Given the description of an element on the screen output the (x, y) to click on. 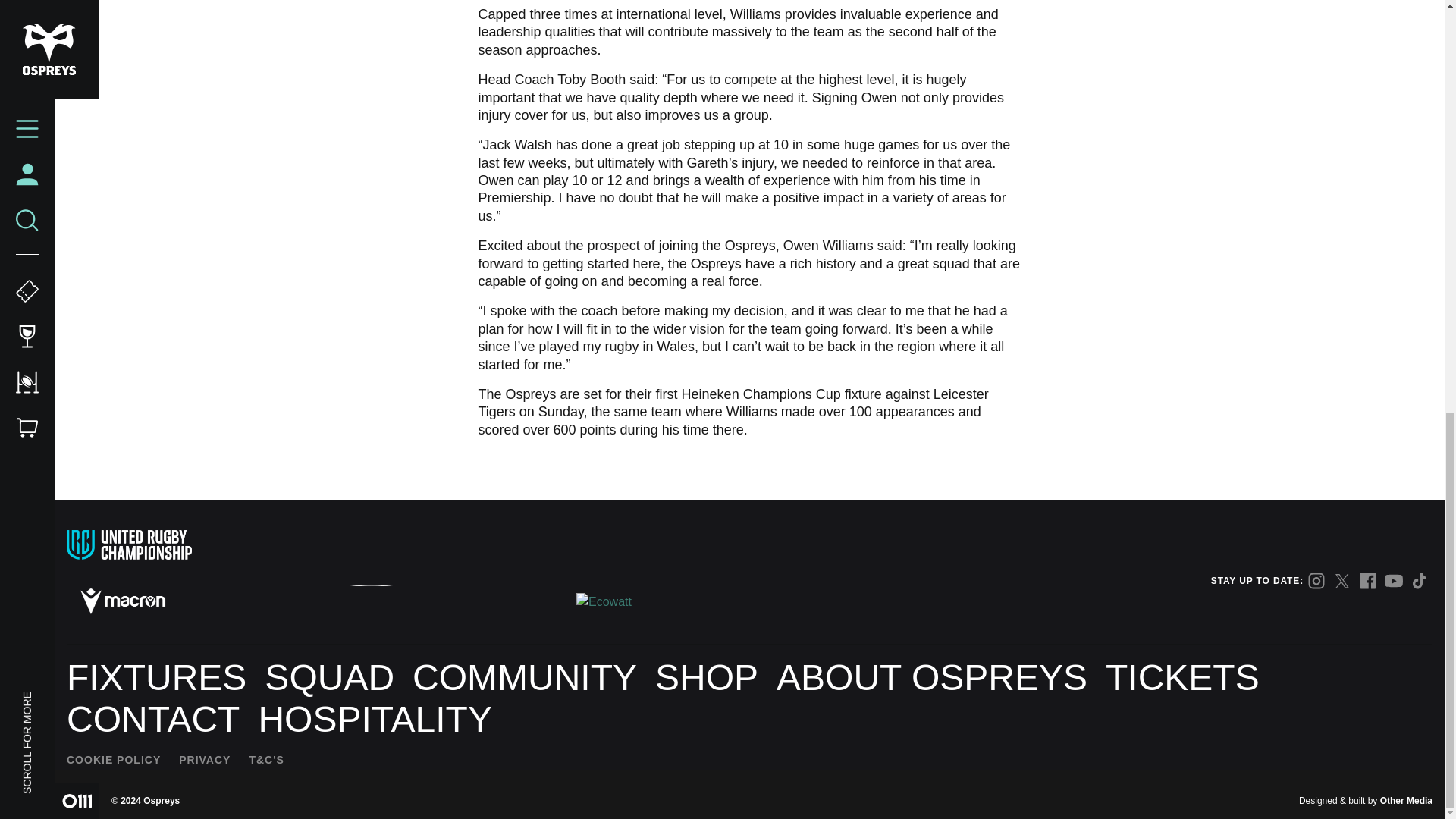
TikTok (1419, 580)
The Consumer Helpline (246, 601)
Macron (122, 601)
Facebook (1367, 580)
Instagram (1315, 580)
United Rugby Championship (129, 544)
Sword (371, 600)
European Challenge Cup (266, 544)
YouTube (1393, 580)
Ecowatt (605, 601)
NPTC (495, 601)
